Given the description of an element on the screen output the (x, y) to click on. 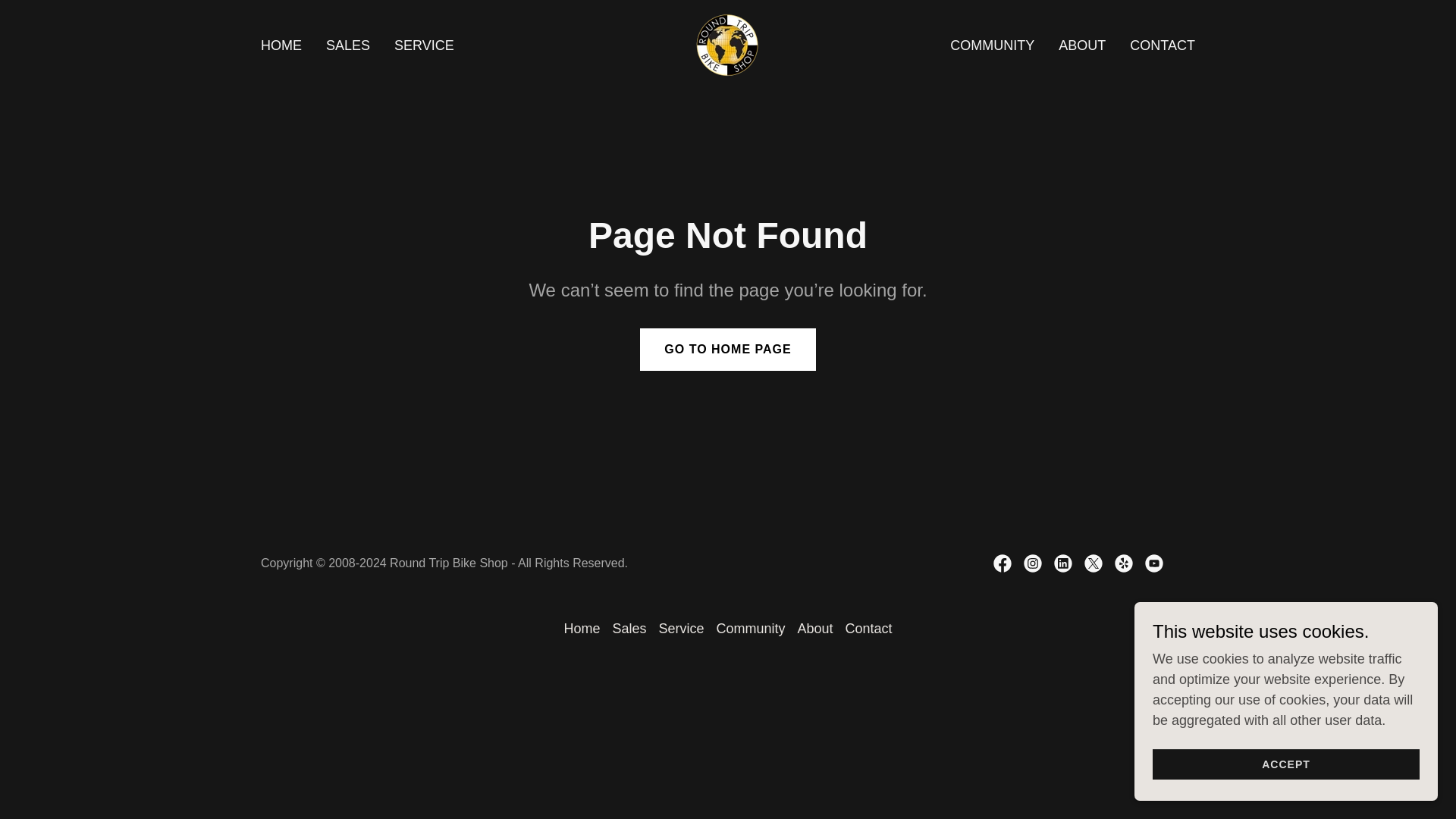
HOME (280, 44)
Sales (628, 628)
ABOUT (1081, 44)
Round Trip Bike Shop (727, 43)
COMMUNITY (991, 44)
Service (681, 628)
SERVICE (424, 44)
Home (581, 628)
Community (750, 628)
CONTACT (1162, 44)
SALES (347, 44)
About (816, 628)
GO TO HOME PAGE (727, 349)
